Given the description of an element on the screen output the (x, y) to click on. 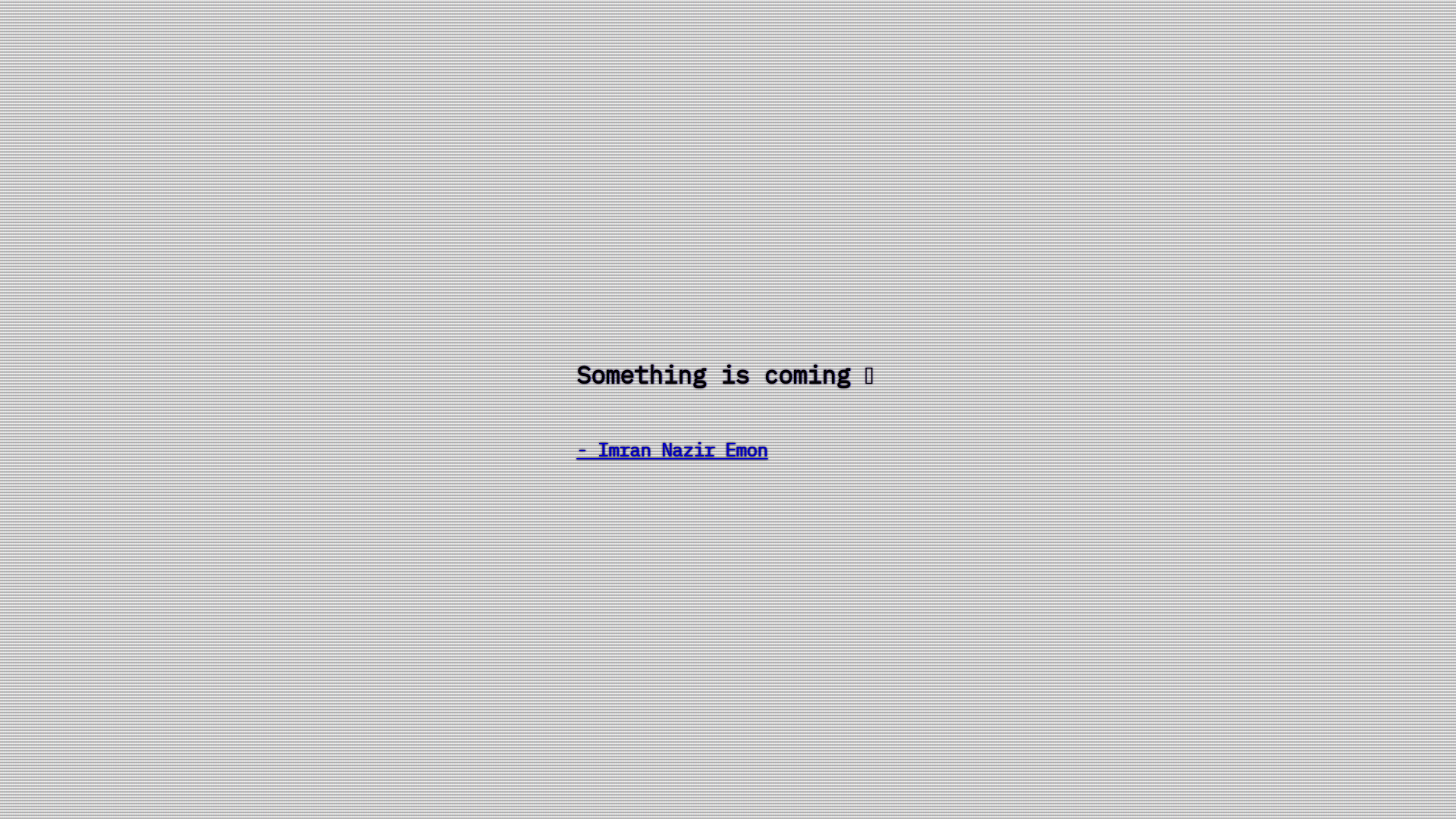
- Imran Nazir Emon Element type: text (727, 446)
